Given the description of an element on the screen output the (x, y) to click on. 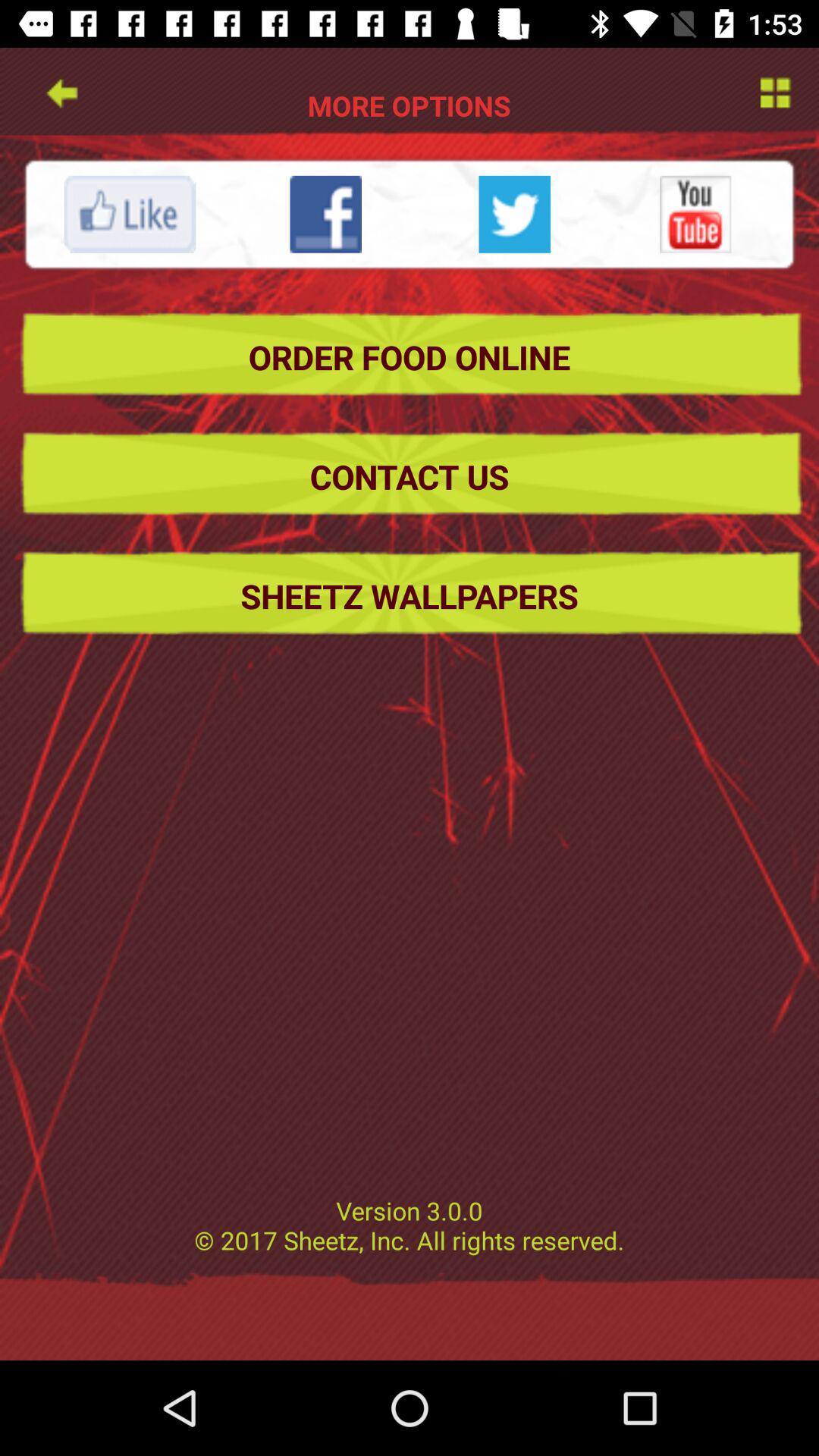
like (129, 214)
